Given the description of an element on the screen output the (x, y) to click on. 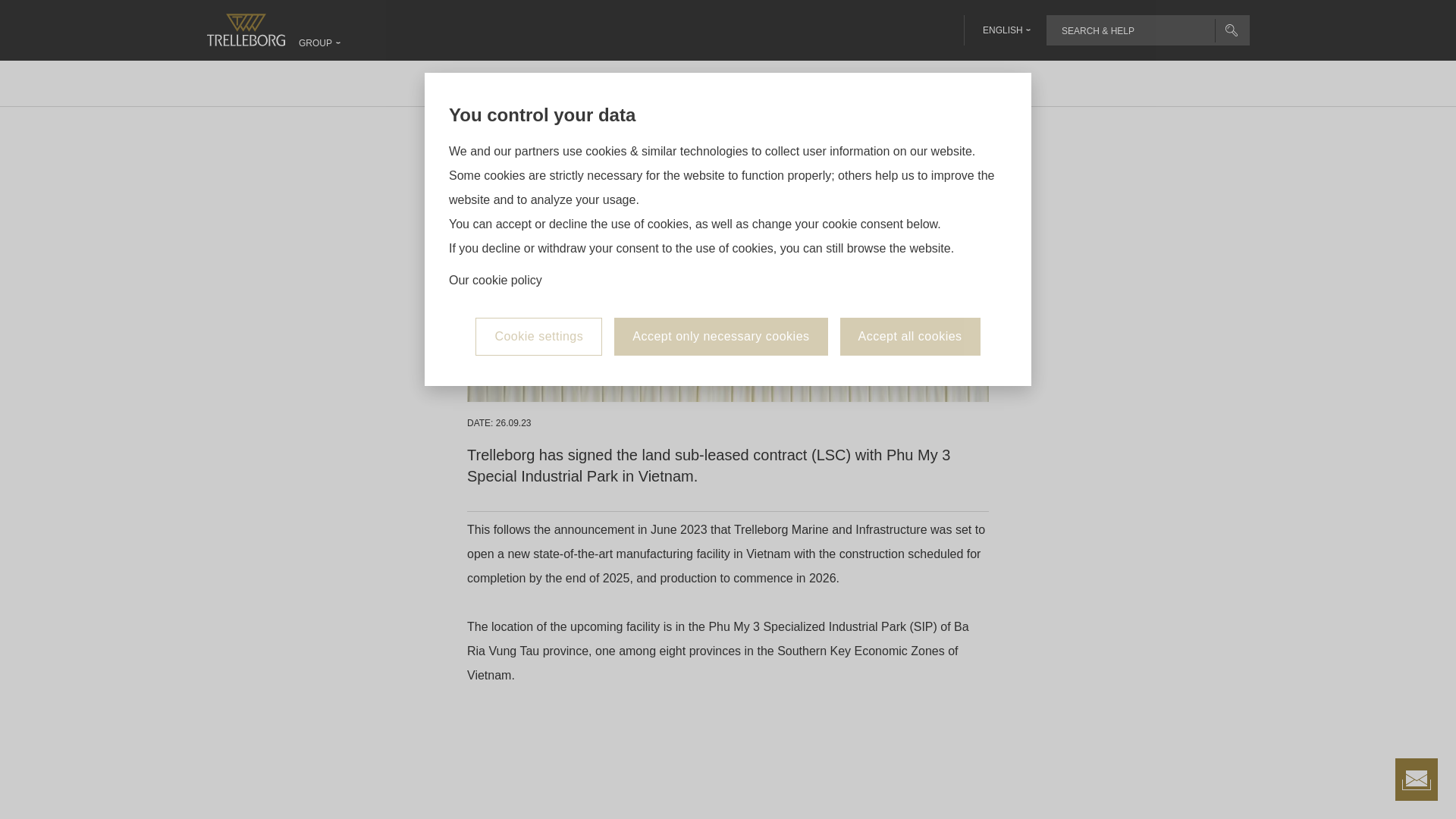
Our cookie policy (494, 174)
Accept all cookies (909, 230)
Cookie settings (539, 230)
Accept only necessary cookies (720, 230)
